Given the description of an element on the screen output the (x, y) to click on. 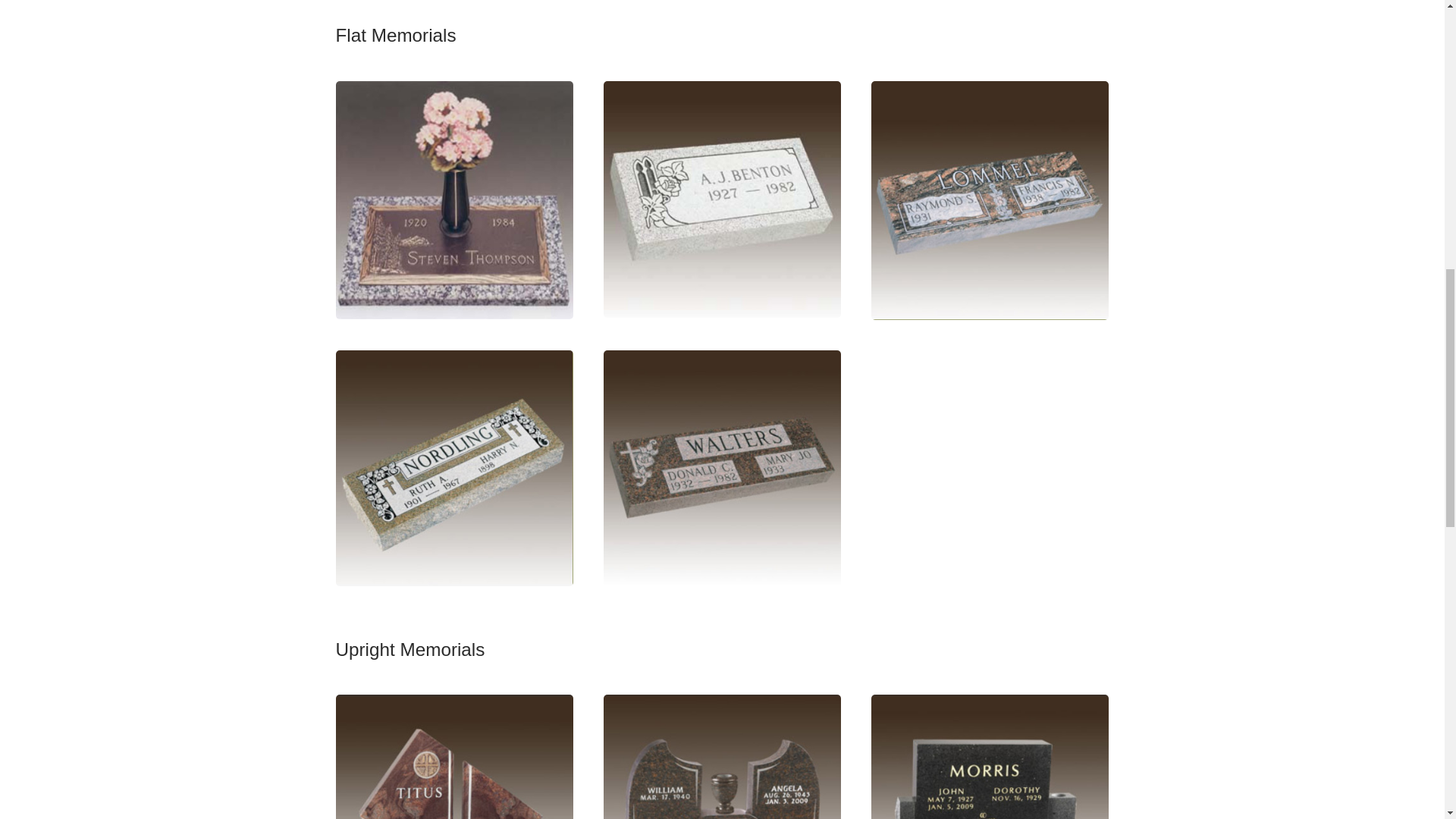
flat-memoral1 (722, 469)
Upright Headstone Marker (989, 756)
flat-memoral2 (453, 468)
flat-memoral3 (989, 200)
flat-memoral5 (453, 200)
Upright Headstone Marker (453, 756)
Upright Headstone Marker (722, 756)
flat-memoral4 (722, 199)
